Given the description of an element on the screen output the (x, y) to click on. 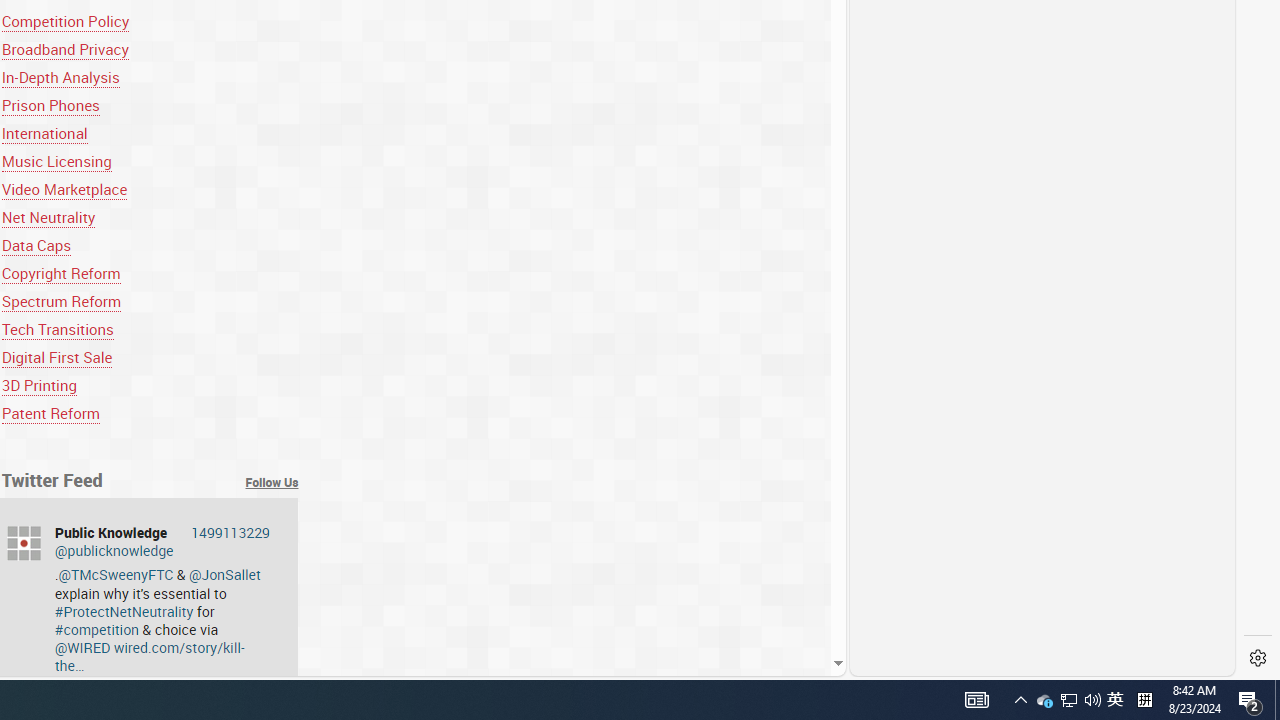
Spectrum Reform (61, 300)
3D Printing (38, 385)
Video Marketplace (64, 189)
In-Depth Analysis (150, 76)
1499113229 (230, 532)
Copyright Reform (150, 272)
Broadband Privacy (150, 48)
Follow Us (271, 481)
Video Marketplace (150, 189)
Patent Reform (50, 413)
@JonSallet (224, 574)
@WIRED (82, 647)
International (150, 133)
Data Caps (150, 245)
Data Caps (36, 245)
